Given the description of an element on the screen output the (x, y) to click on. 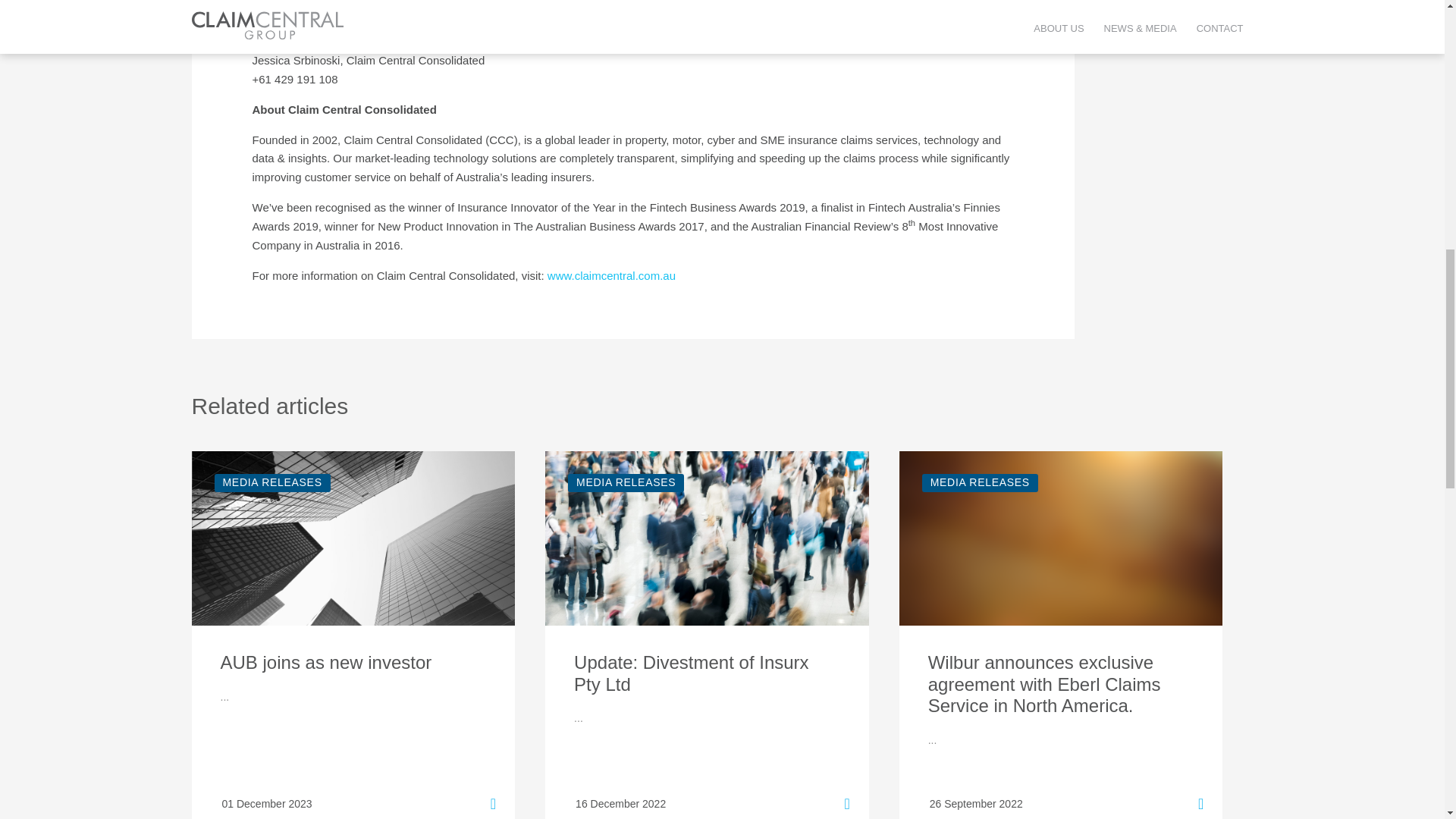
... (932, 739)
... (578, 717)
www.claimcentral.com.au (611, 275)
AUB joins as new investor (352, 662)
... (223, 696)
Update: Divestment of Insurx Pty Ltd (706, 673)
